Given the description of an element on the screen output the (x, y) to click on. 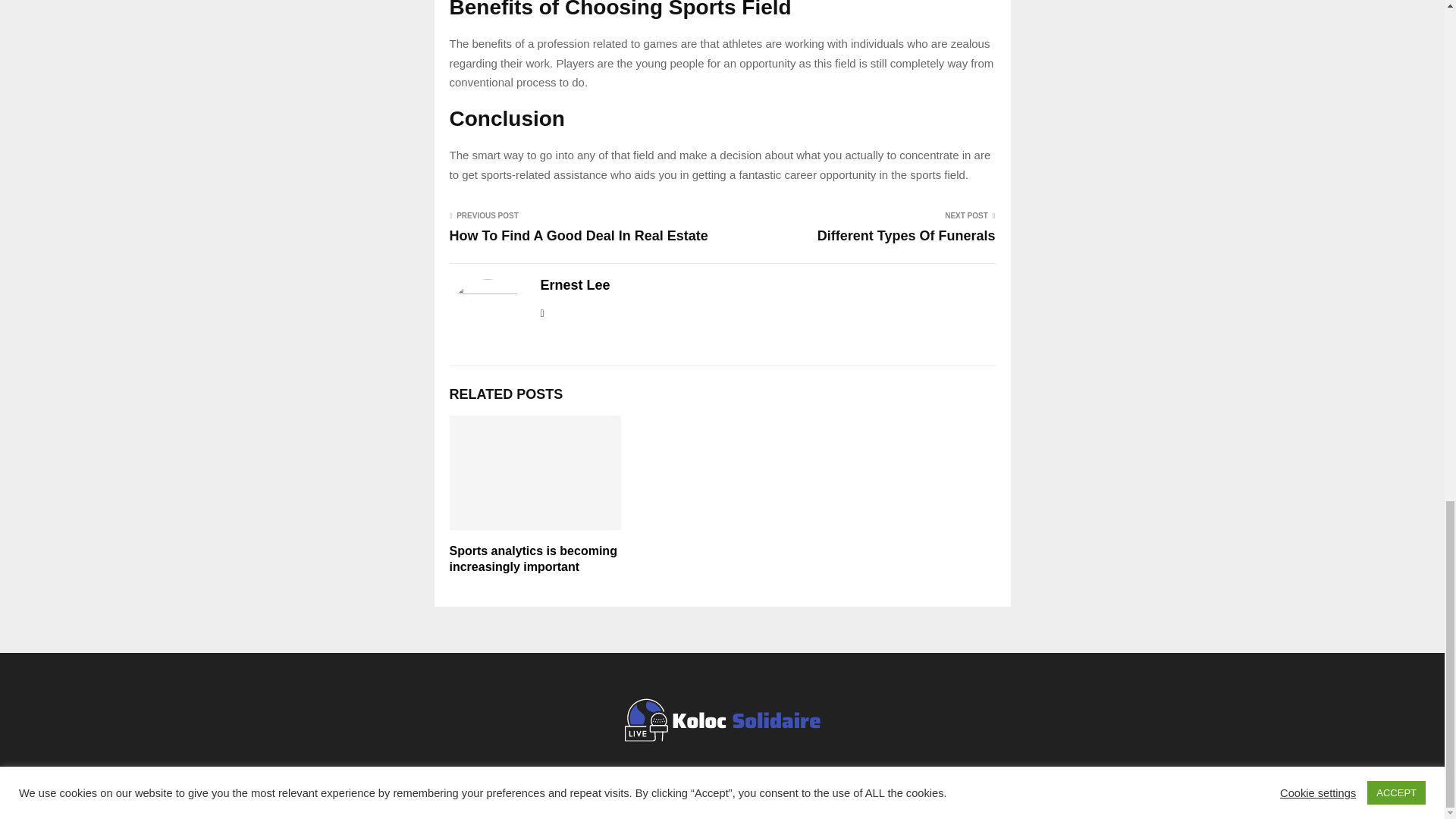
Posts by Ernest Lee (575, 285)
How To Find A Good Deal In Real Estate (577, 235)
Different Types Of Funerals (905, 235)
Sports analytics is becoming increasingly important (531, 558)
Ernest Lee (575, 285)
